Given the description of an element on the screen output the (x, y) to click on. 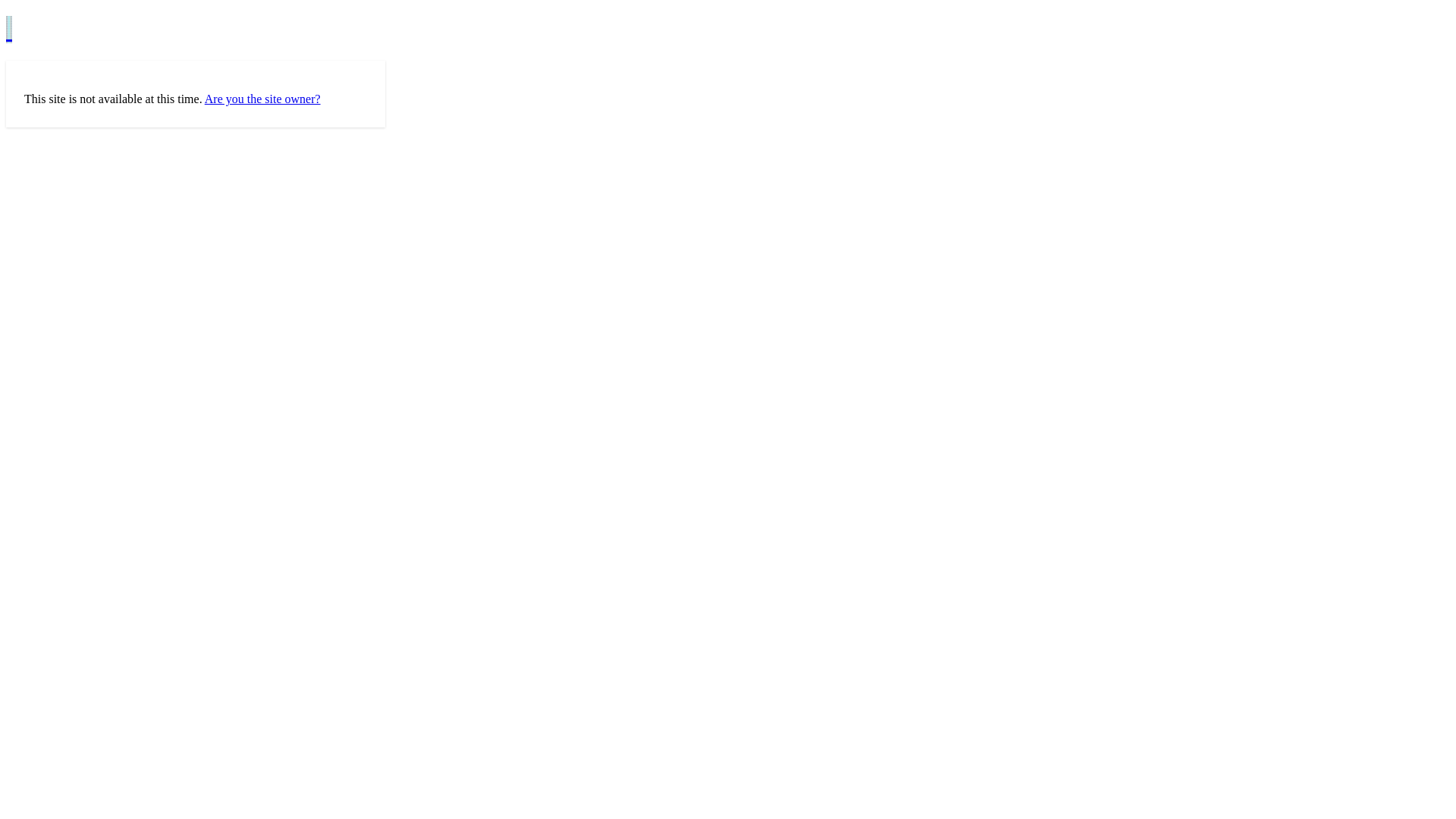
Are you the site owner? Element type: text (262, 98)
  Element type: text (9, 29)
